Given the description of an element on the screen output the (x, y) to click on. 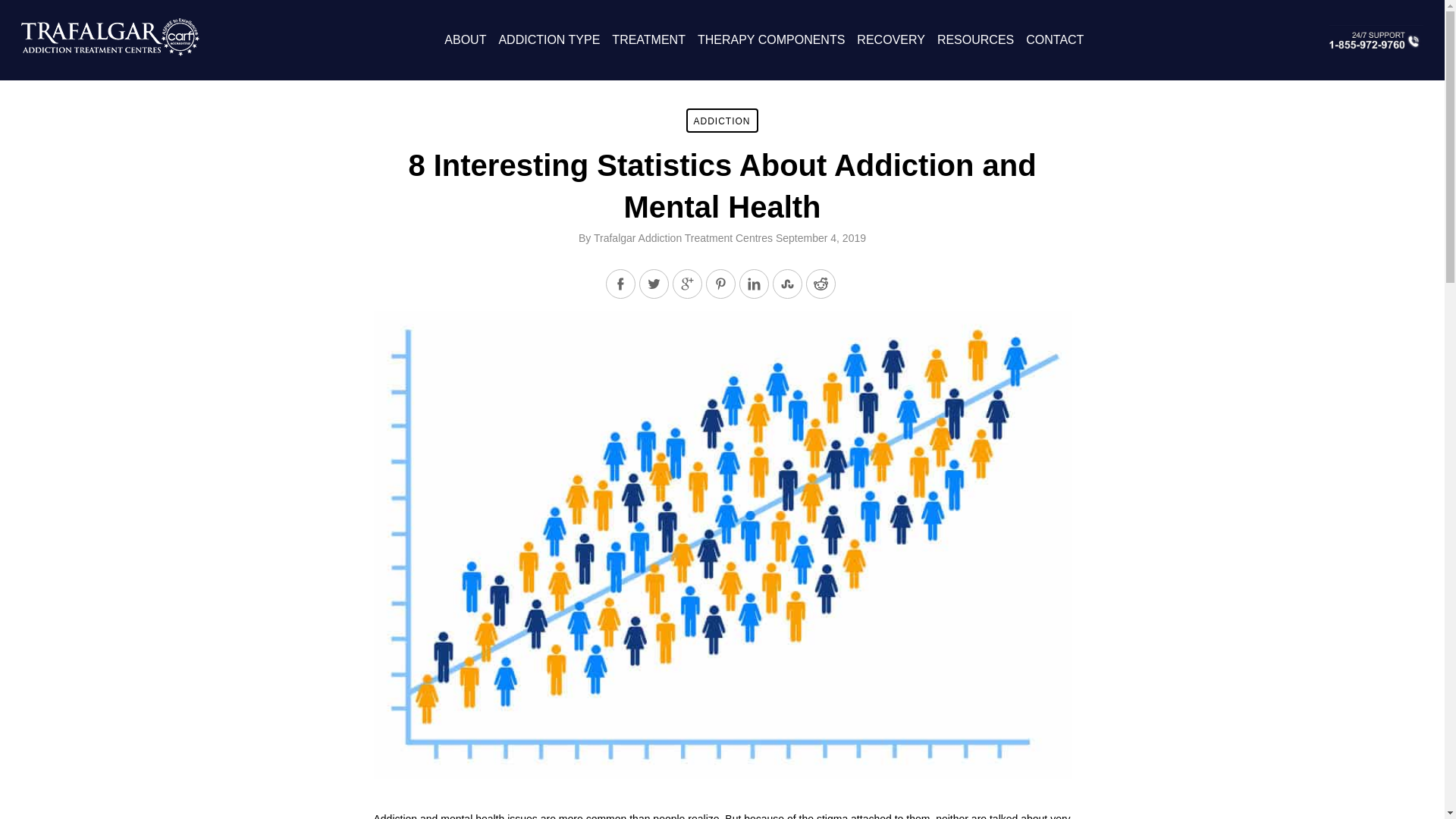
ADDICTION TYPE (548, 39)
Posts by Trafalgar Addiction Treatment Centres (683, 237)
ABOUT (465, 39)
